Given the description of an element on the screen output the (x, y) to click on. 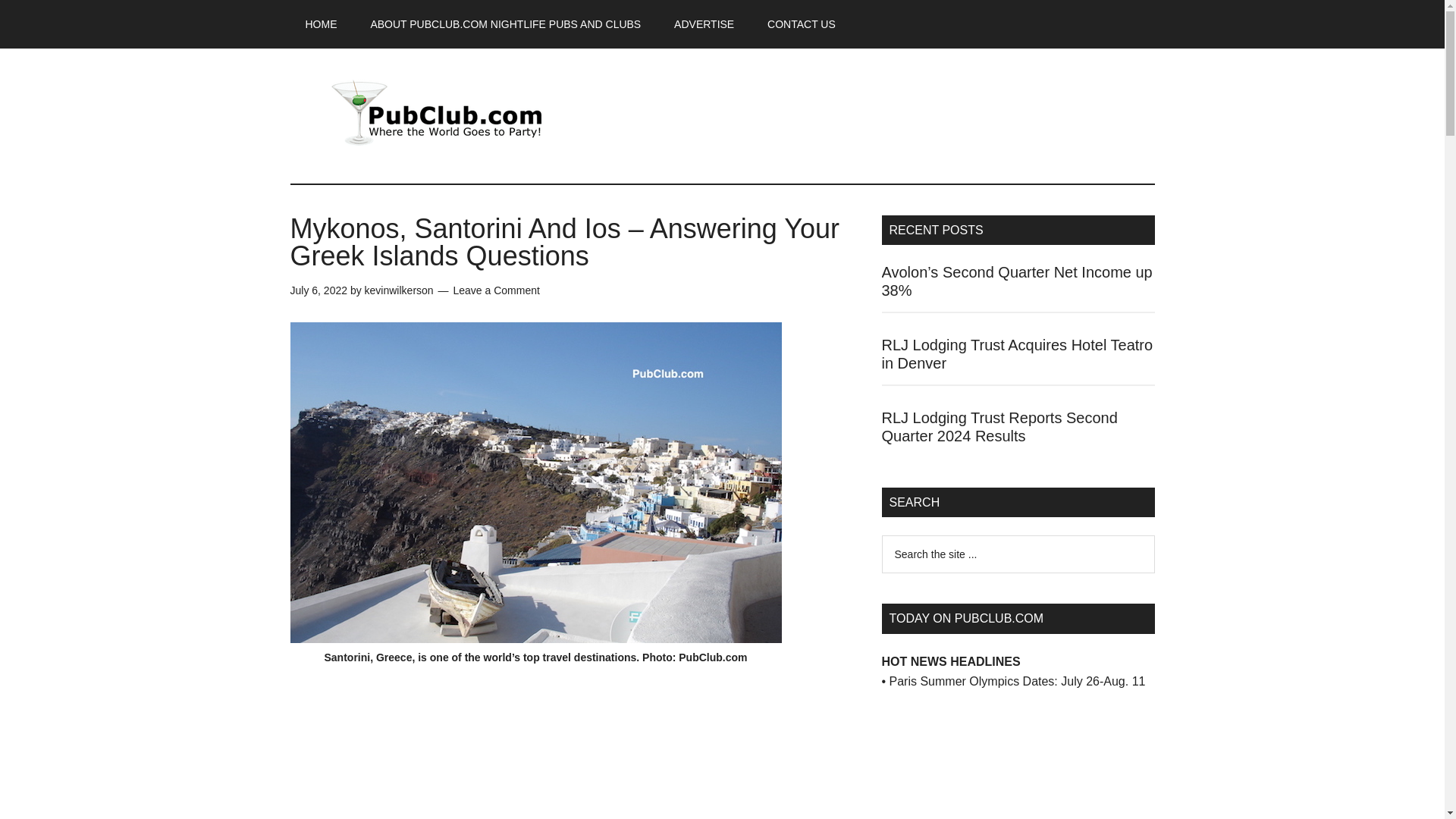
kevinwilkerson (399, 290)
PubClub (433, 112)
HOME (320, 24)
Leave a Comment (496, 290)
ADVERTISE (704, 24)
RLJ Lodging Trust Acquires Hotel Teatro in Denver (1016, 353)
RLJ Lodging Trust Reports Second Quarter 2024 Results (998, 426)
ABOUT PUBCLUB.COM NIGHTLIFE PUBS AND CLUBS (505, 24)
CONTACT US (801, 24)
YouTube video player (994, 764)
